Given the description of an element on the screen output the (x, y) to click on. 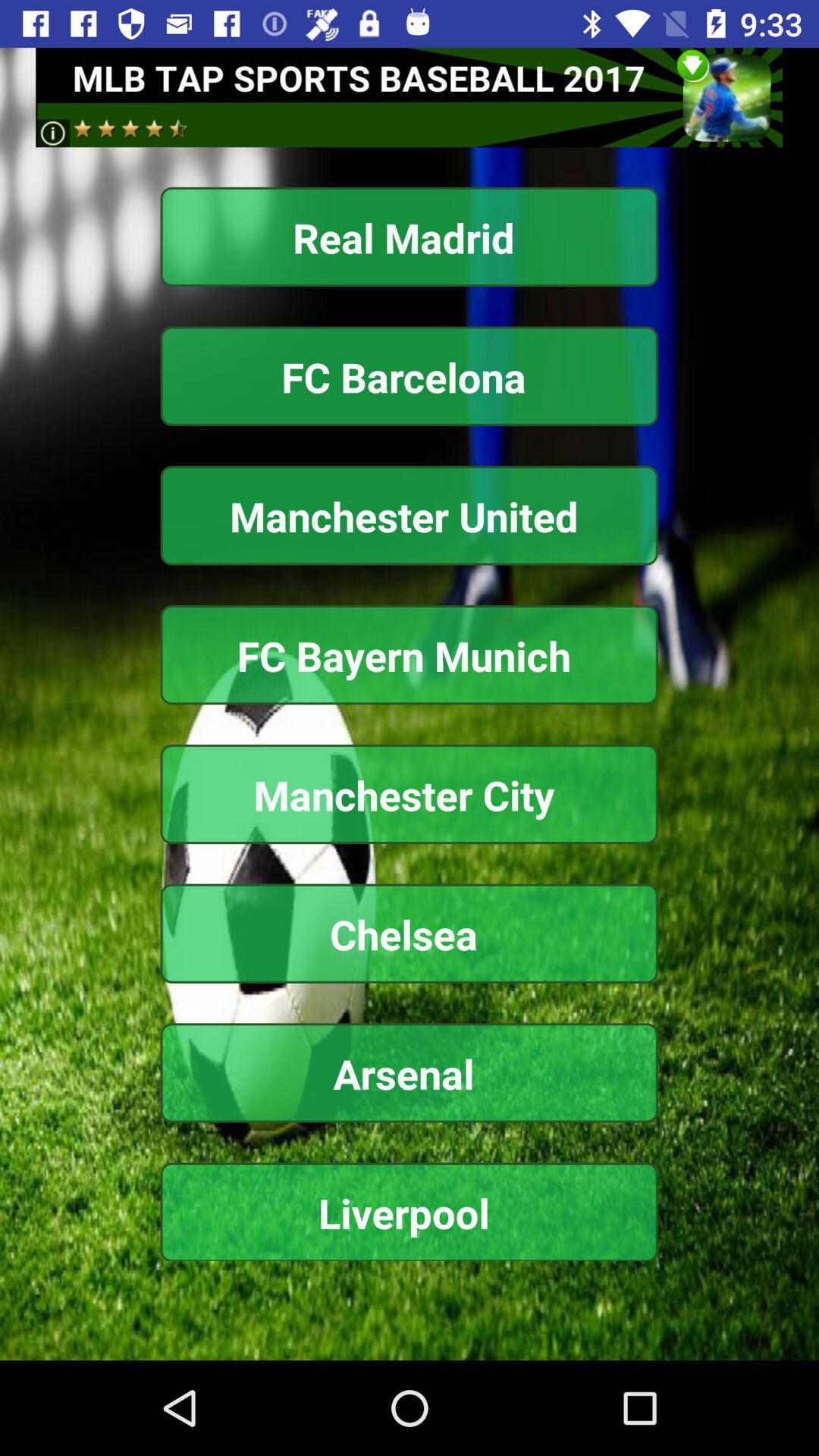
an advertisement (408, 97)
